Given the description of an element on the screen output the (x, y) to click on. 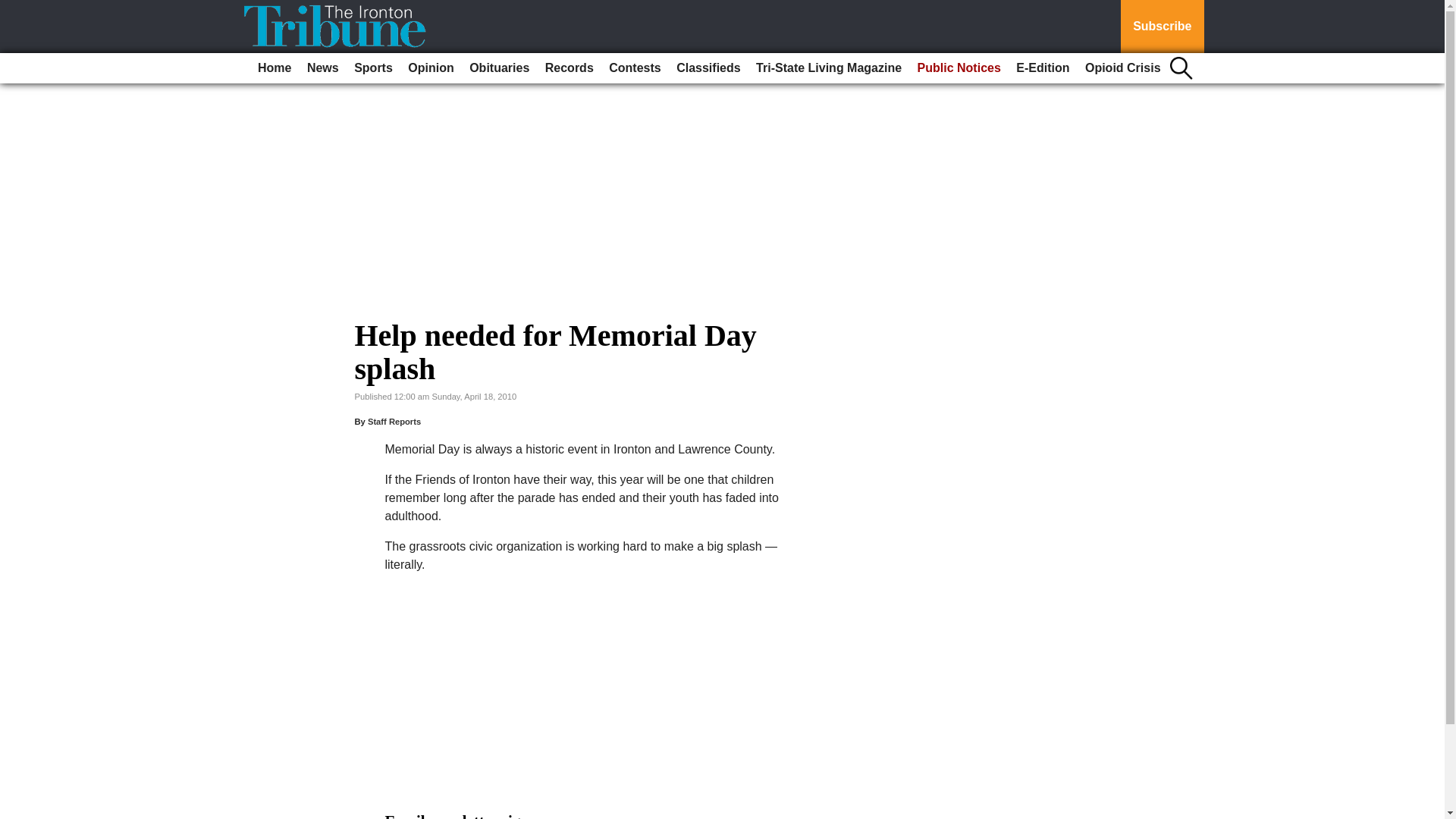
Tri-State Living Magazine (828, 68)
Opinion (430, 68)
Records (568, 68)
Public Notices (959, 68)
Go (13, 9)
Staff Reports (394, 420)
Obituaries (499, 68)
Home (274, 68)
Classifieds (707, 68)
E-Edition (1042, 68)
